Given the description of an element on the screen output the (x, y) to click on. 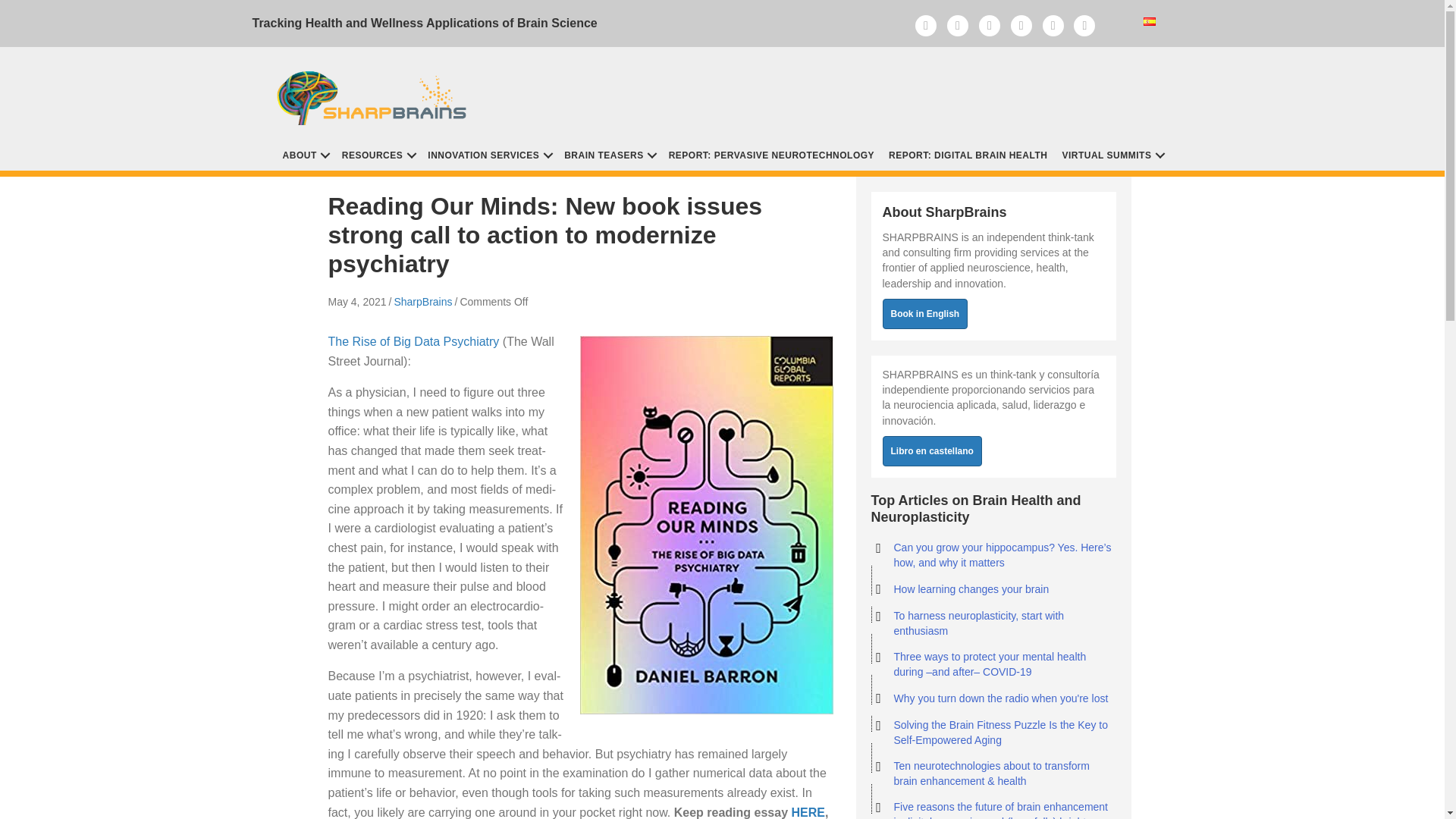
ABOUT (305, 154)
sb-logo-with-brain (374, 93)
BRAIN TEASERS (609, 154)
es (1149, 21)
REPORT: DIGITAL BRAIN HEALTH (968, 154)
INNOVATION SERVICES (488, 154)
SharpBrains (422, 301)
RESOURCES (377, 154)
VIRTUAL SUMMITS (1111, 154)
REPORT: PERVASIVE NEUROTECHNOLOGY (771, 154)
